Given the description of an element on the screen output the (x, y) to click on. 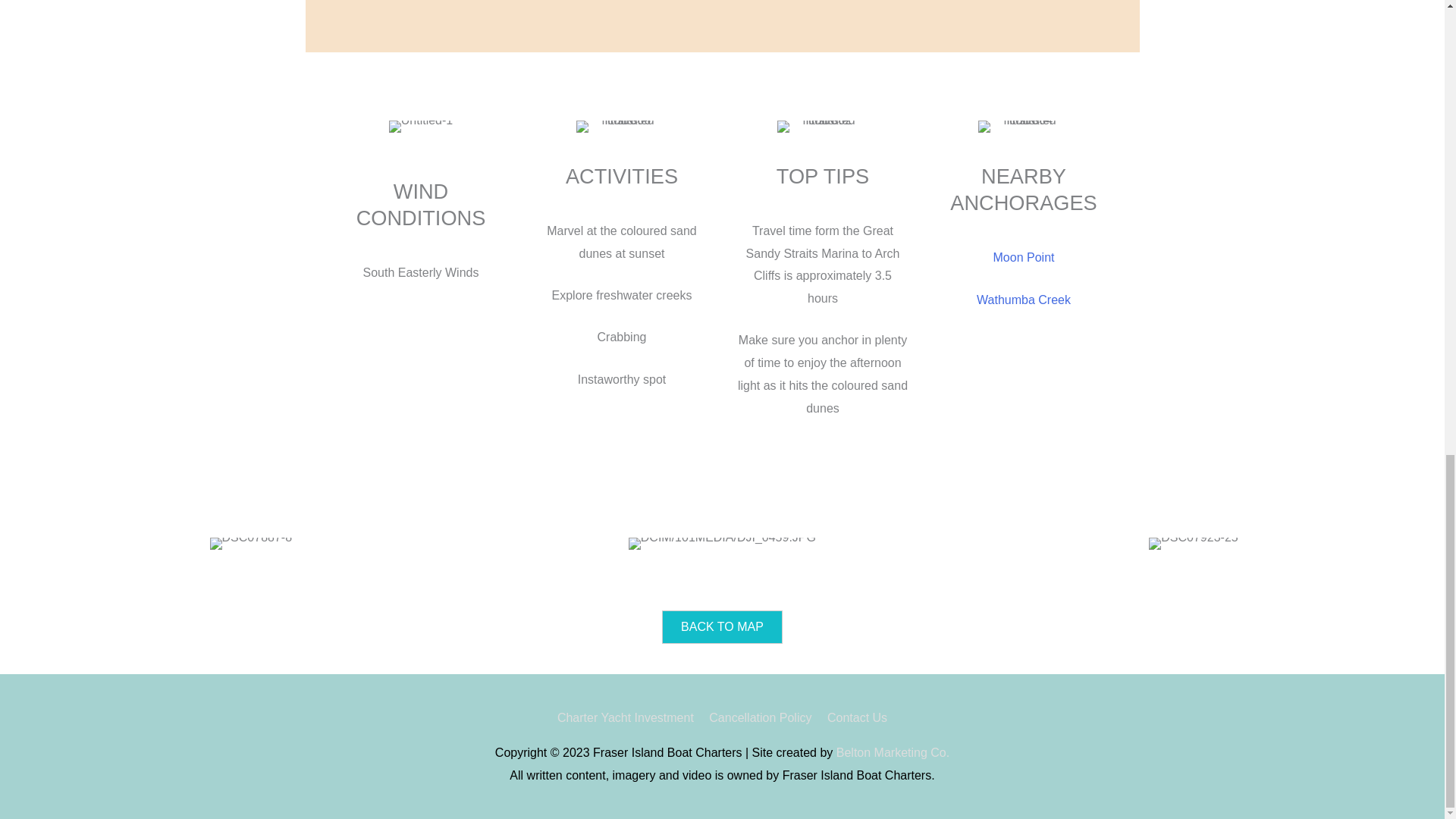
DSC07887-8 (250, 543)
FIBC - Illustrated icons-02 (822, 126)
Untitled-1 (420, 126)
FIBC - Illustrated icons-06 (621, 126)
DSC07923-25 (1192, 543)
FIBC - Illustrated icons-04 (1023, 126)
